Given the description of an element on the screen output the (x, y) to click on. 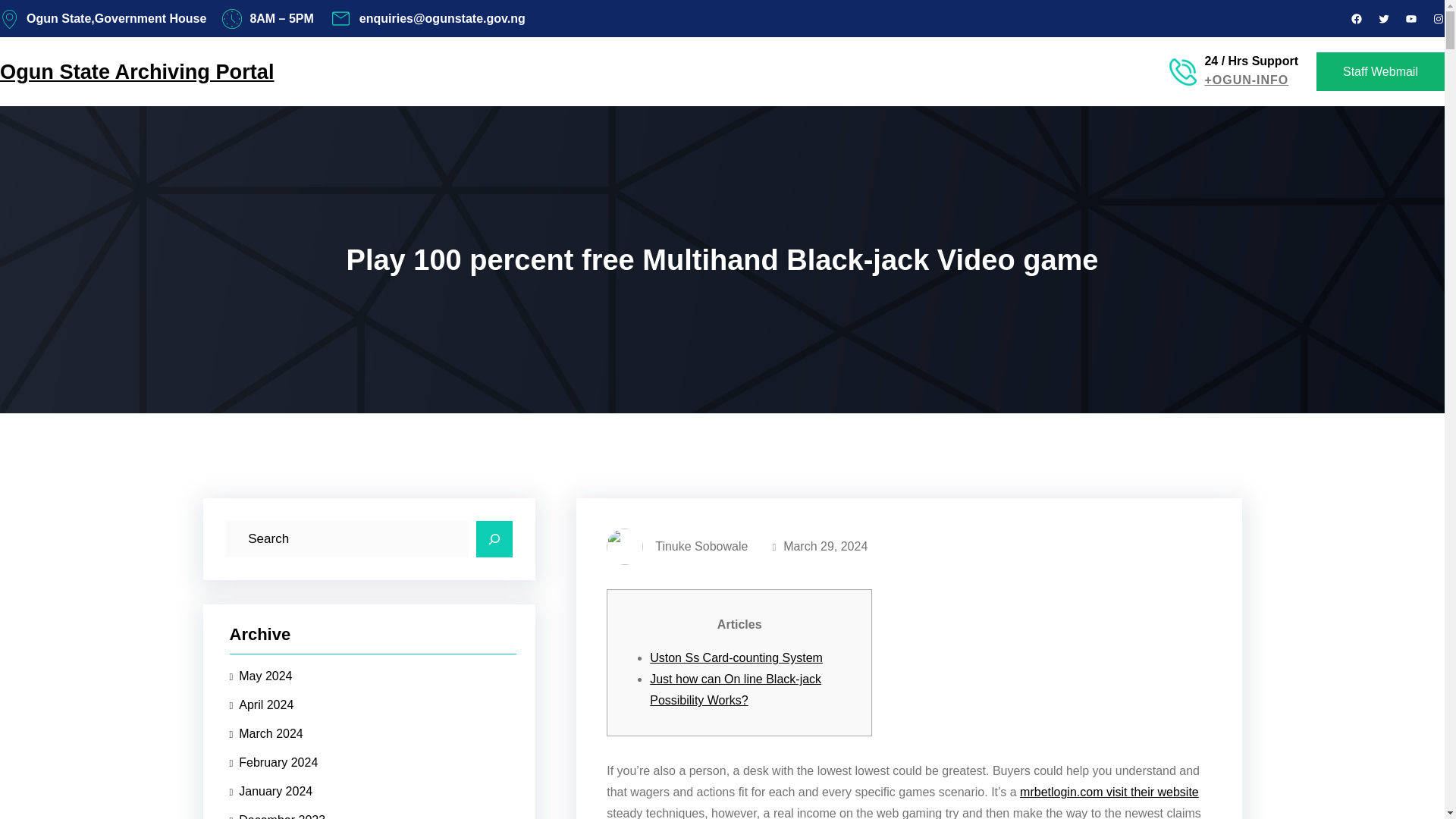
Twitter (1383, 19)
Facebook (1356, 19)
YouTube (1410, 19)
Ogun State Archiving Portal (137, 72)
